Given the description of an element on the screen output the (x, y) to click on. 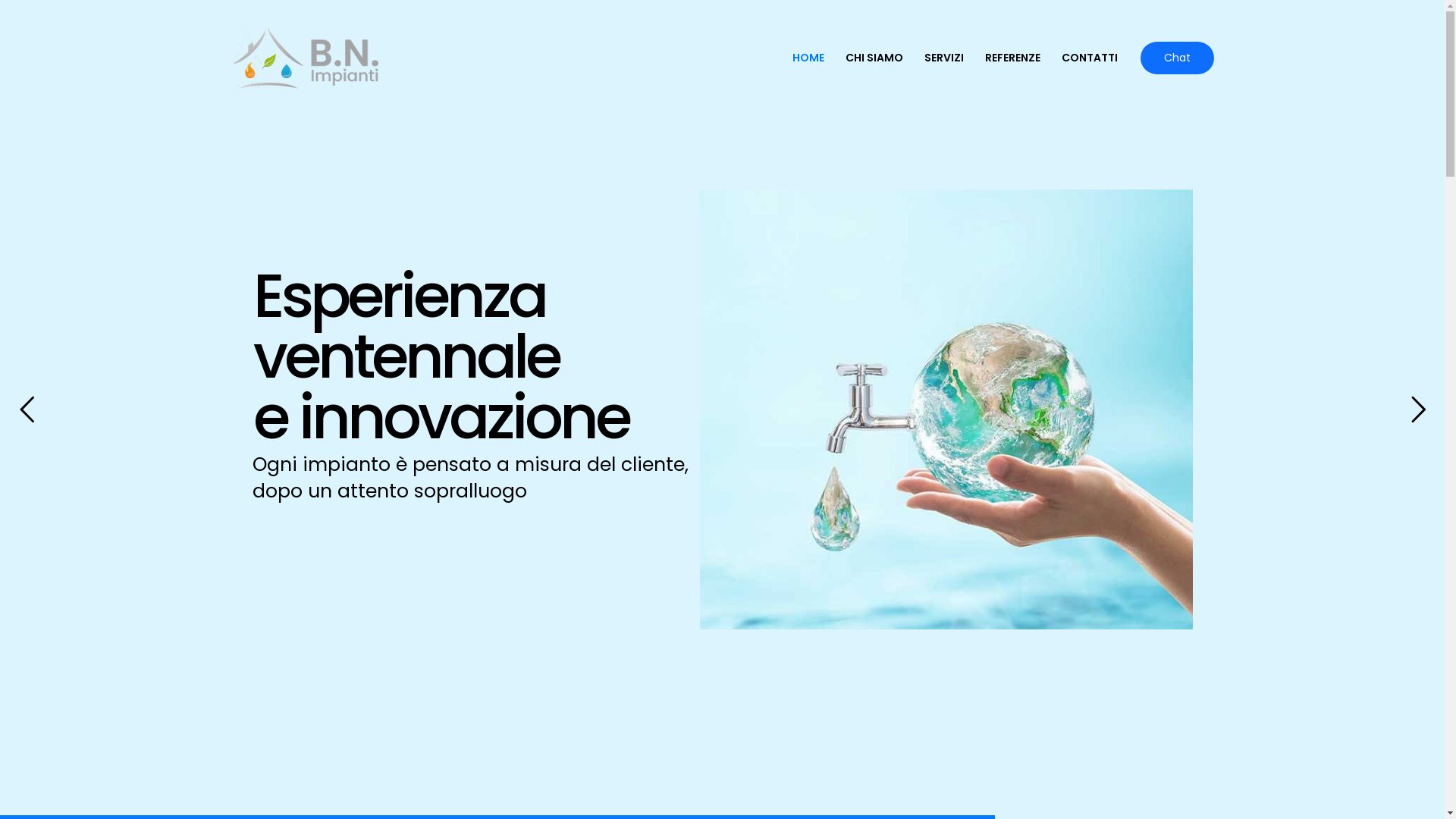
CONTATTI Element type: text (1089, 57)
REFERENZE Element type: text (1011, 57)
Chat Element type: text (1177, 57)
SERVIZI Element type: text (943, 57)
HOME Element type: text (807, 57)
CHI SIAMO Element type: text (873, 57)
